Given the description of an element on the screen output the (x, y) to click on. 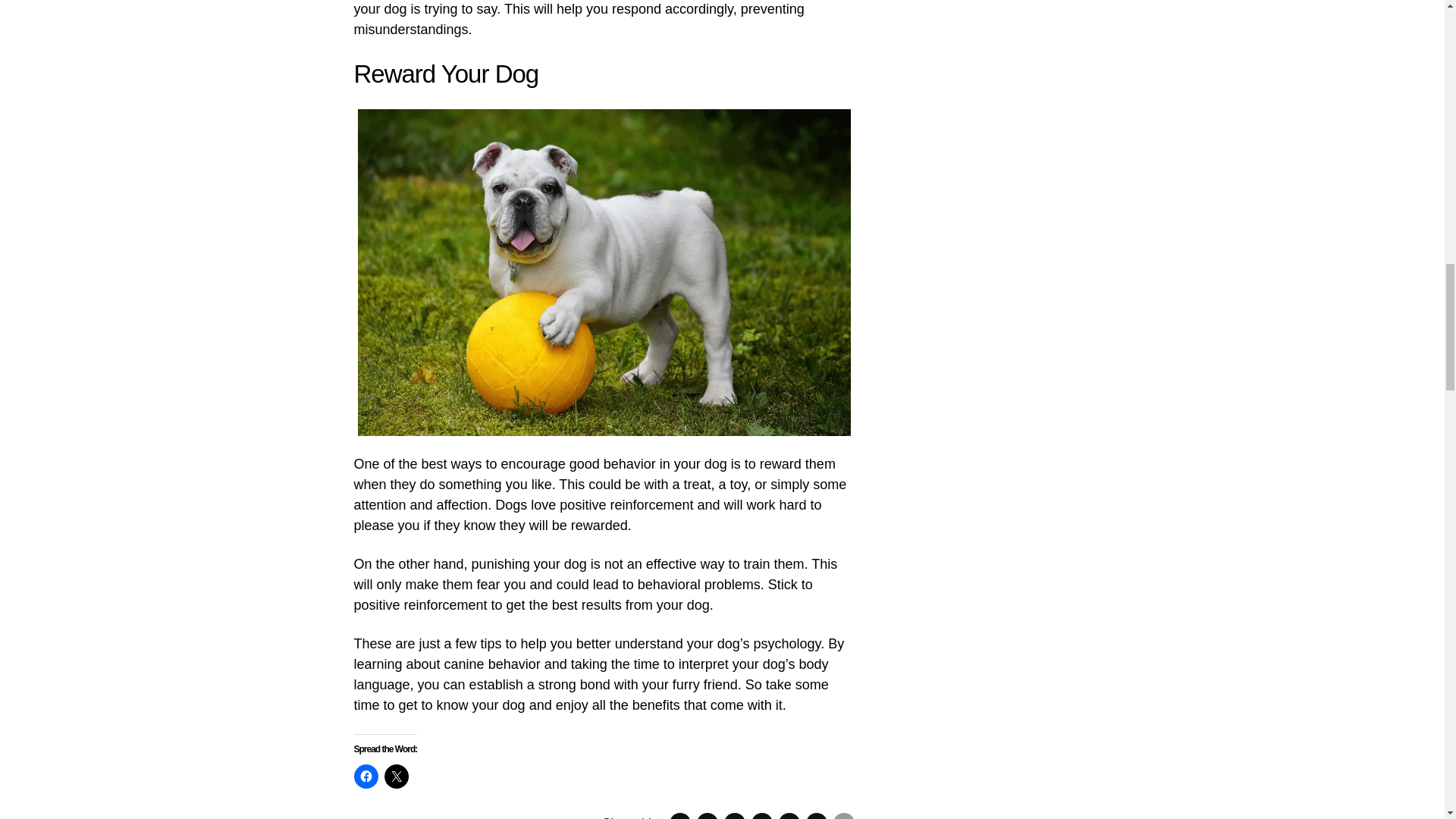
Click to share on Facebook (365, 776)
Click to share on X (395, 776)
